Given the description of an element on the screen output the (x, y) to click on. 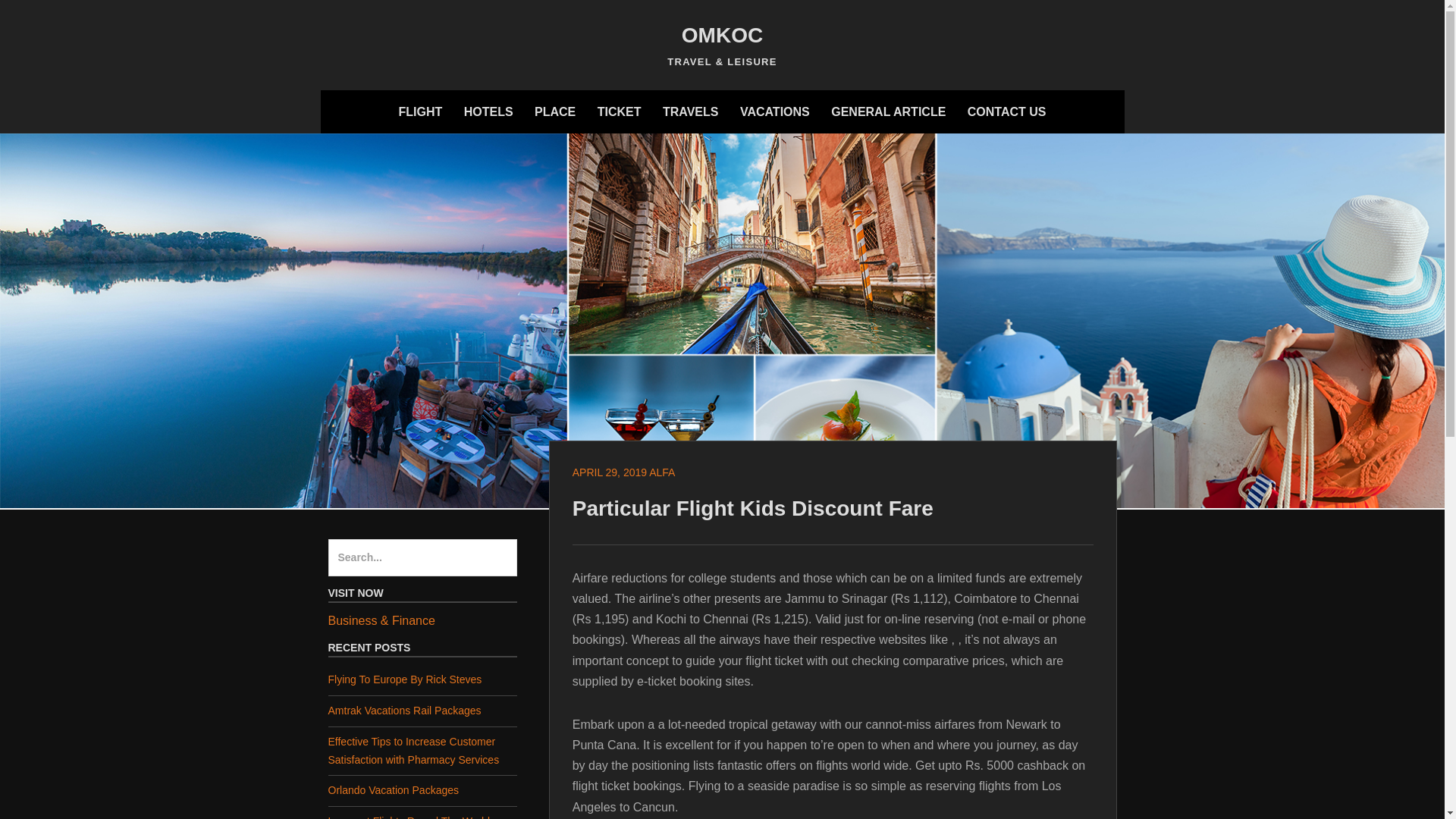
CONTACT US (1006, 111)
OMKOC (721, 34)
Search for: (421, 557)
FLIGHT (419, 111)
ALFA (662, 472)
APRIL 29, 2019 (609, 472)
VACATIONS (774, 111)
HOTELS (488, 111)
